Given the description of an element on the screen output the (x, y) to click on. 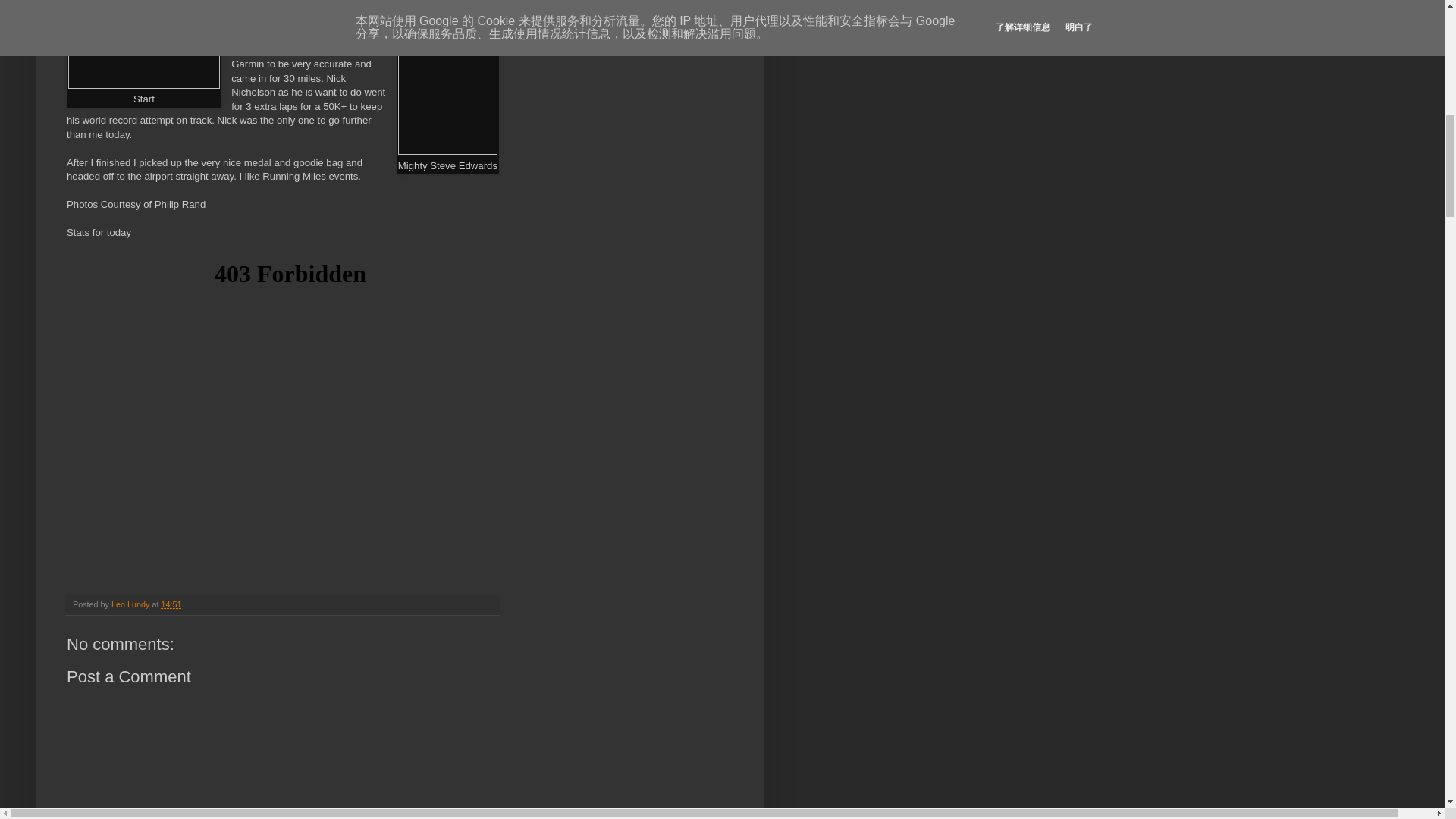
14:51 (170, 604)
Leo Lundy (131, 604)
permanent link (170, 604)
author profile (131, 604)
